Given the description of an element on the screen output the (x, y) to click on. 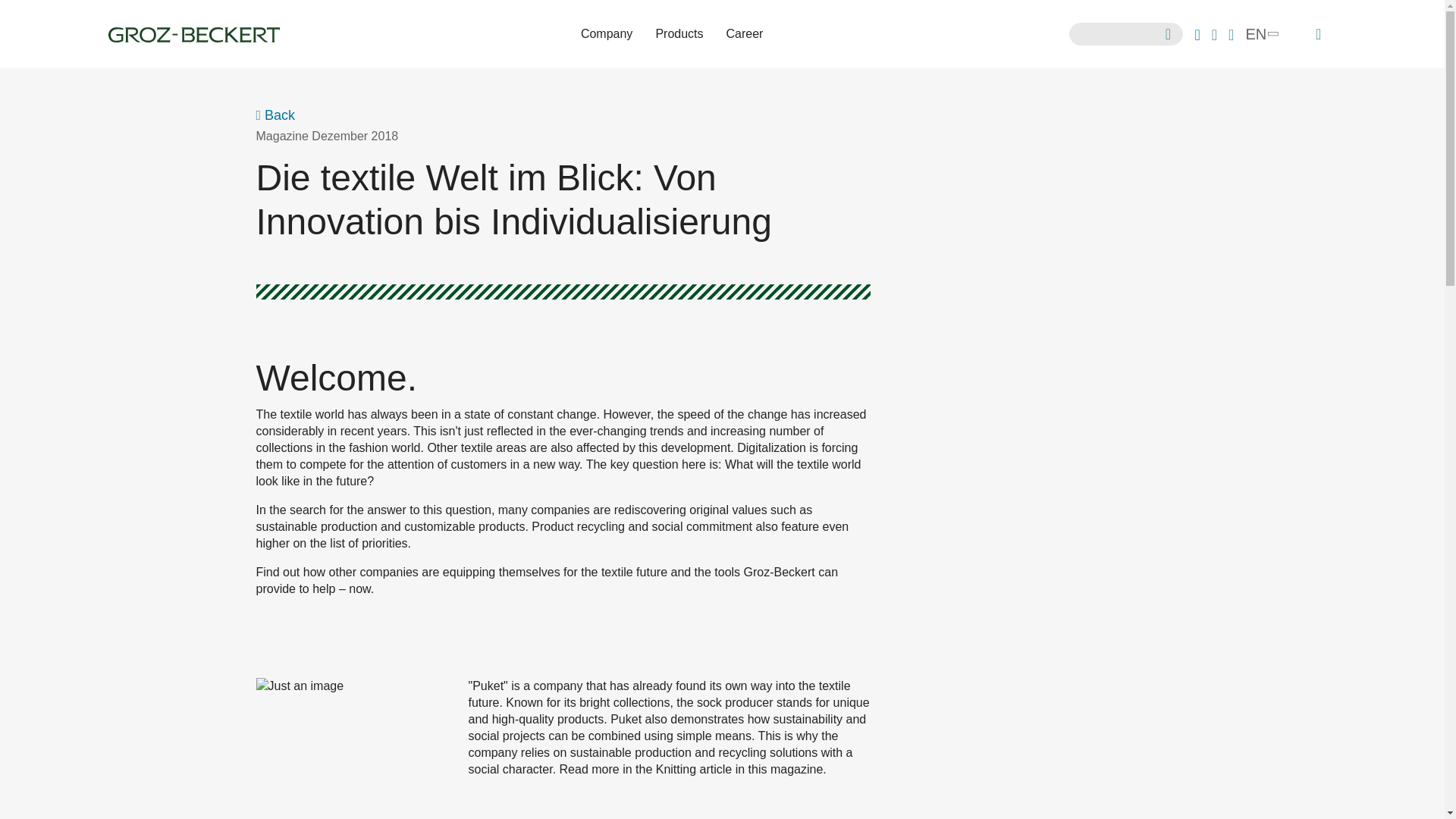
Career (744, 34)
EN (1259, 33)
Company (606, 34)
Products (678, 34)
